Given the description of an element on the screen output the (x, y) to click on. 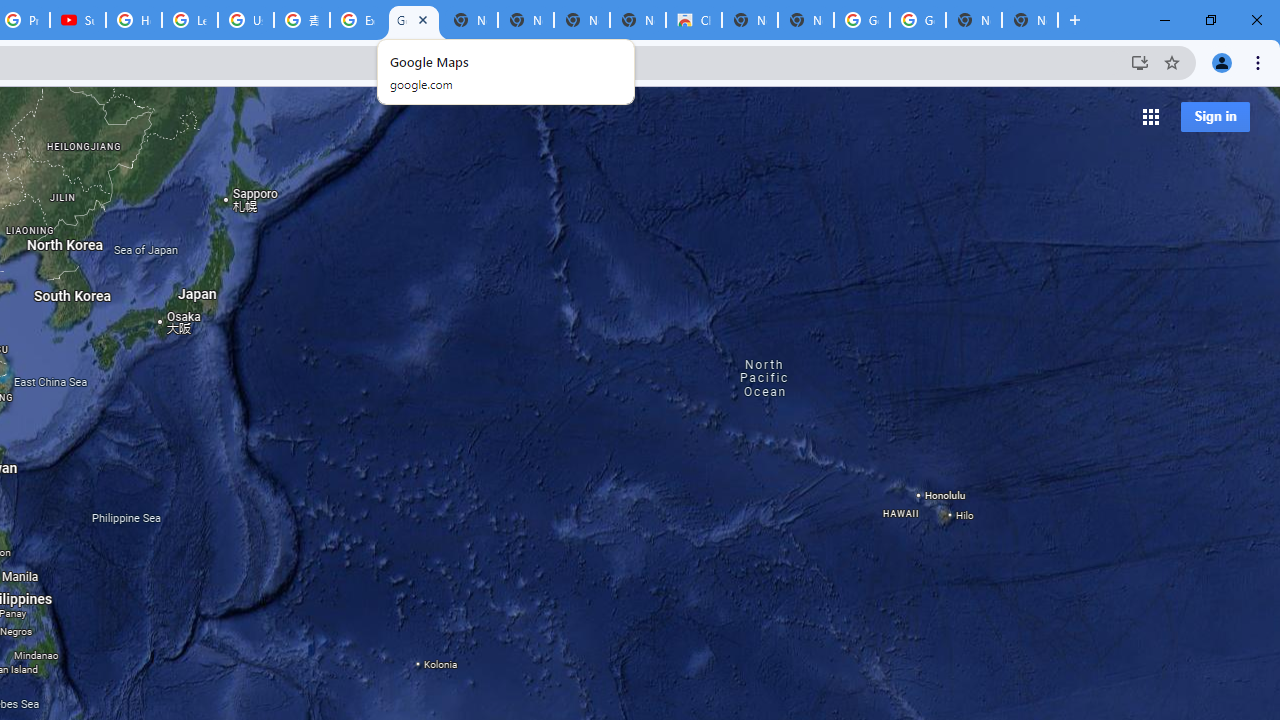
Google Maps (413, 20)
New Tab (1030, 20)
